Given the description of an element on the screen output the (x, y) to click on. 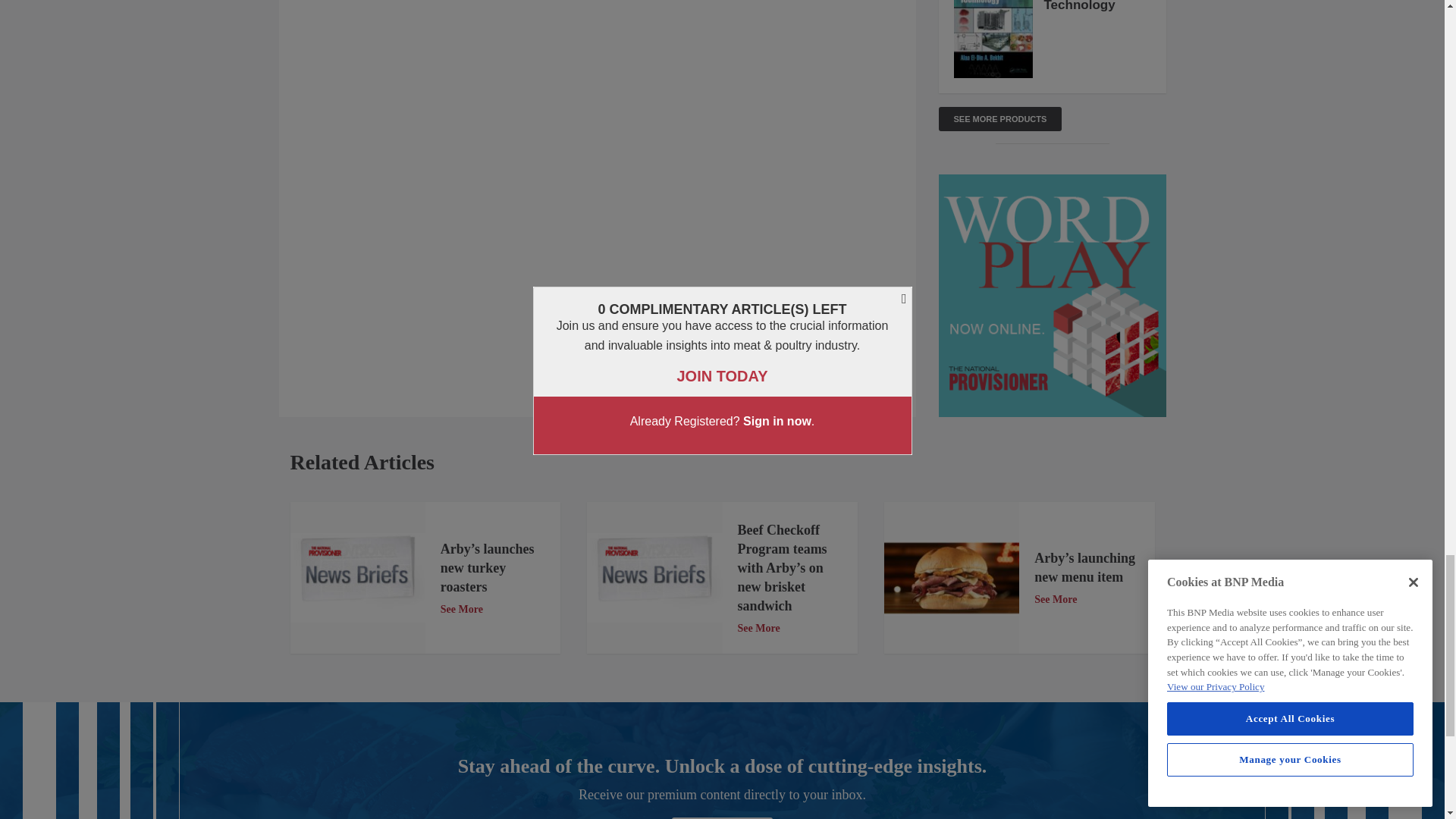
News Brief Feature (357, 578)
News Brief Feature (654, 578)
